Given the description of an element on the screen output the (x, y) to click on. 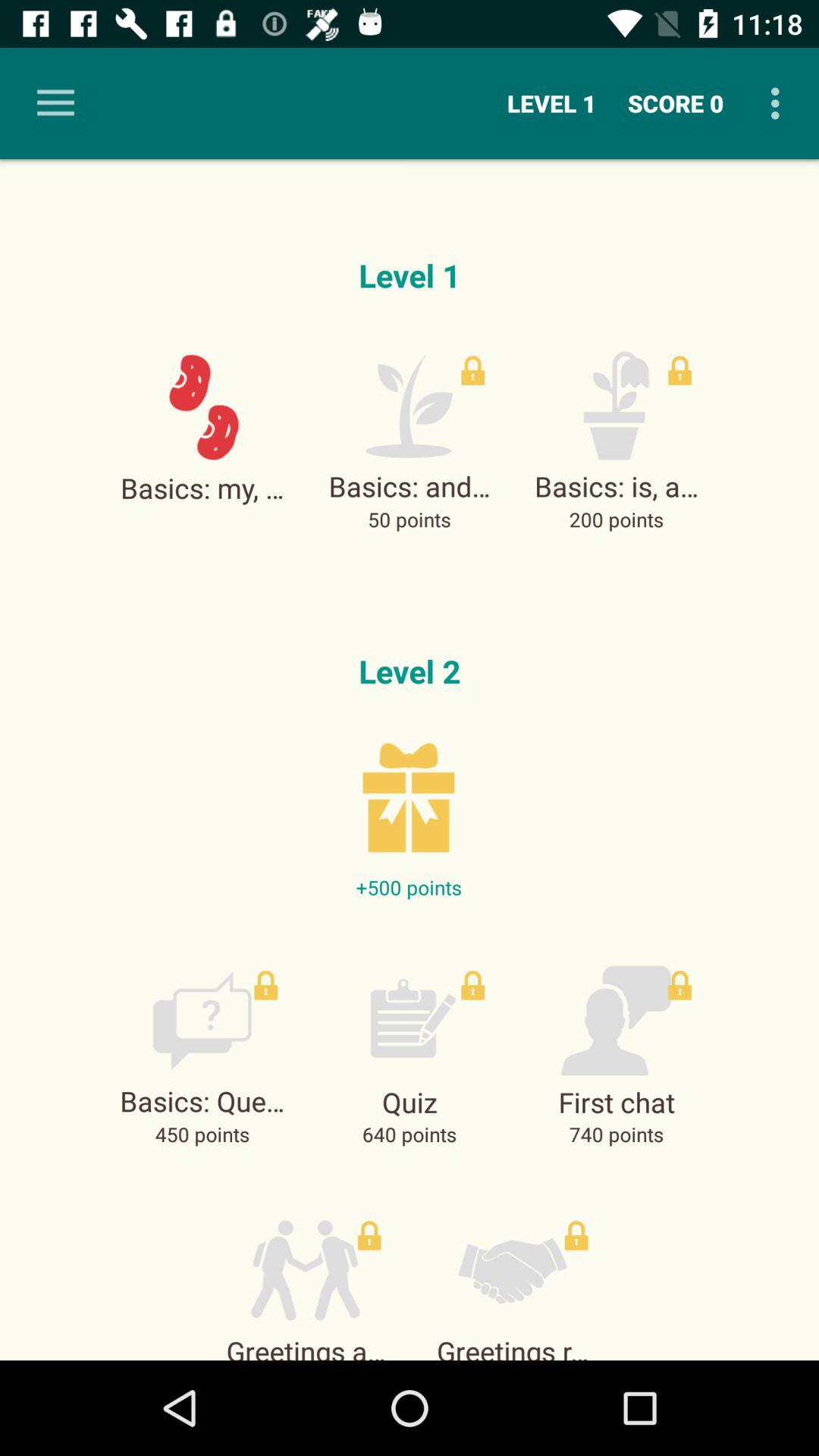
select the icon which is above 450 points (202, 1020)
click on score 0 (675, 103)
